Given the description of an element on the screen output the (x, y) to click on. 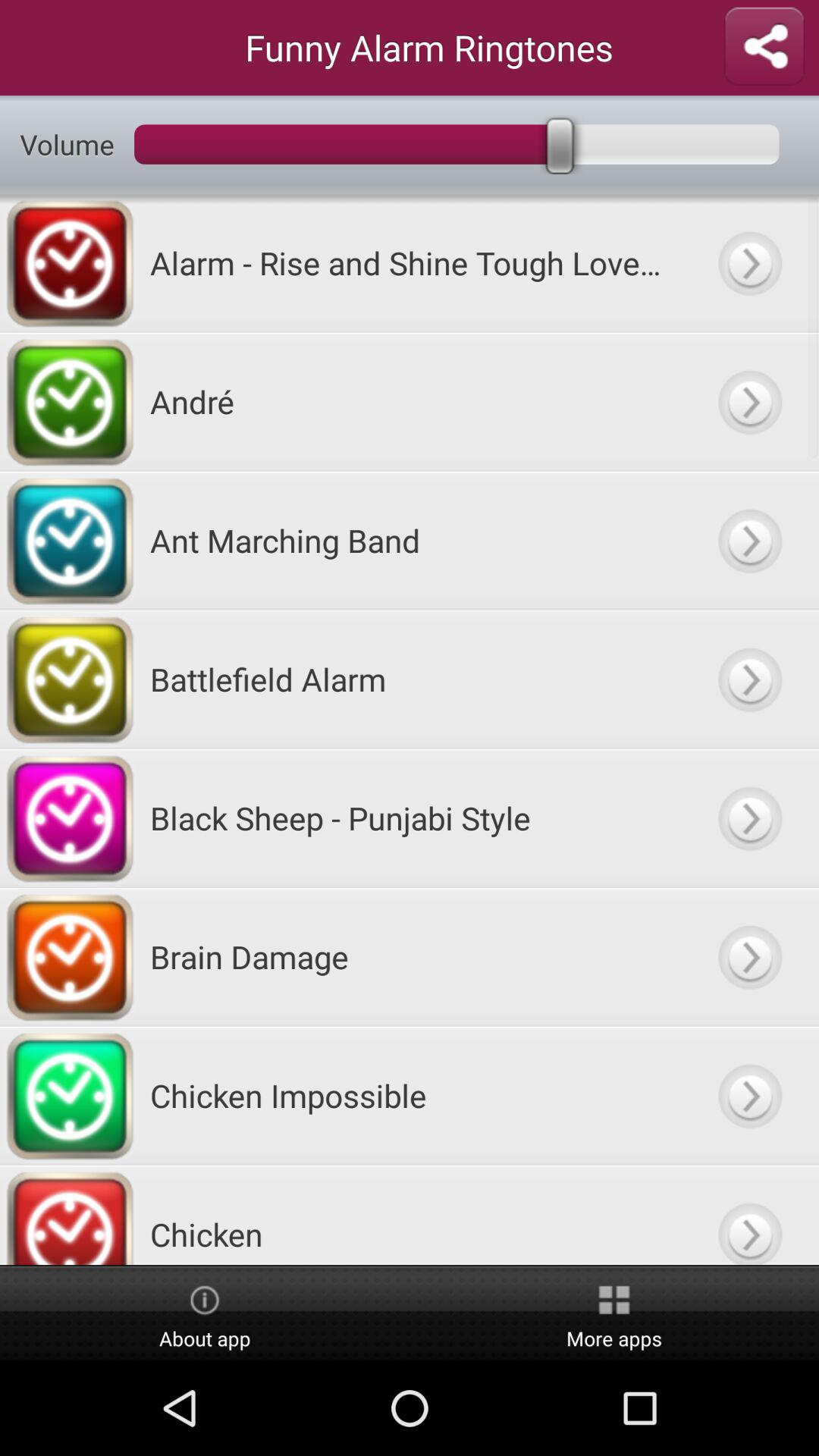
choose ringtone (749, 1214)
